Given the description of an element on the screen output the (x, y) to click on. 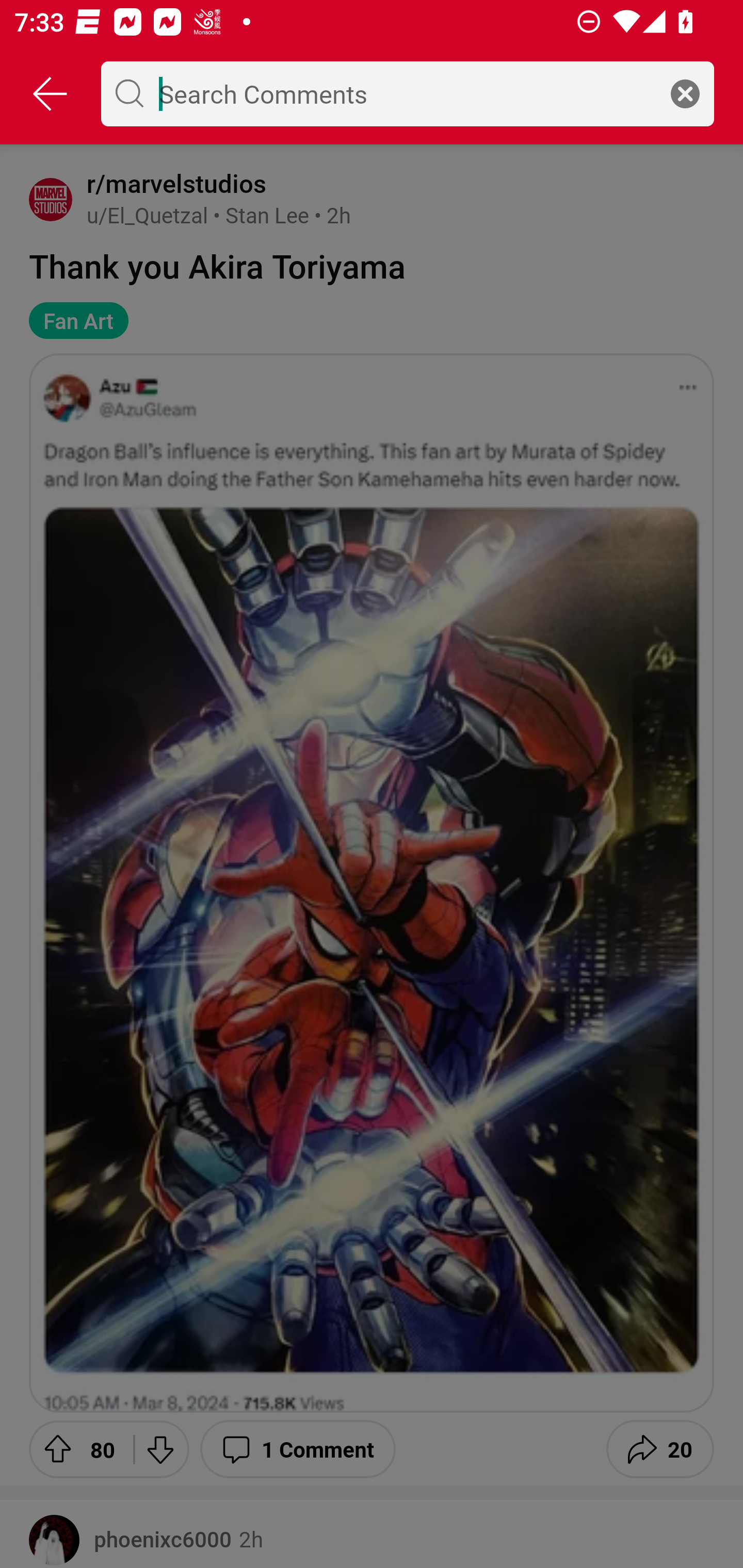
Back (50, 93)
Search Comments (403, 93)
Clear search (685, 93)
